Given the description of an element on the screen output the (x, y) to click on. 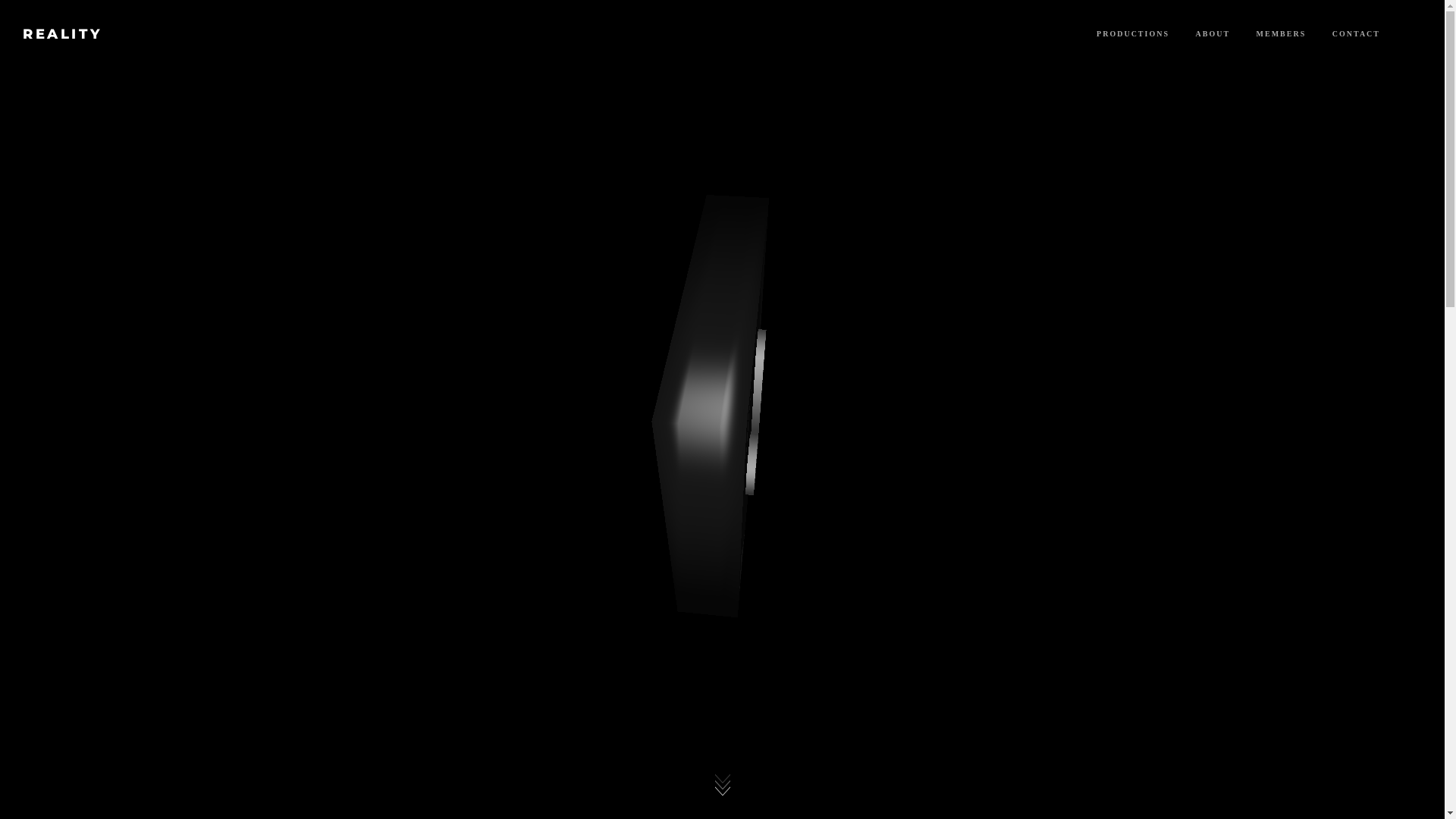
PRODUCTIONS Element type: text (1132, 33)
MEMBERS Element type: text (1281, 33)
ABOUT Element type: text (1212, 33)
REALITY Element type: text (61, 33)
CONTACT Element type: text (1356, 33)
